Given the description of an element on the screen output the (x, y) to click on. 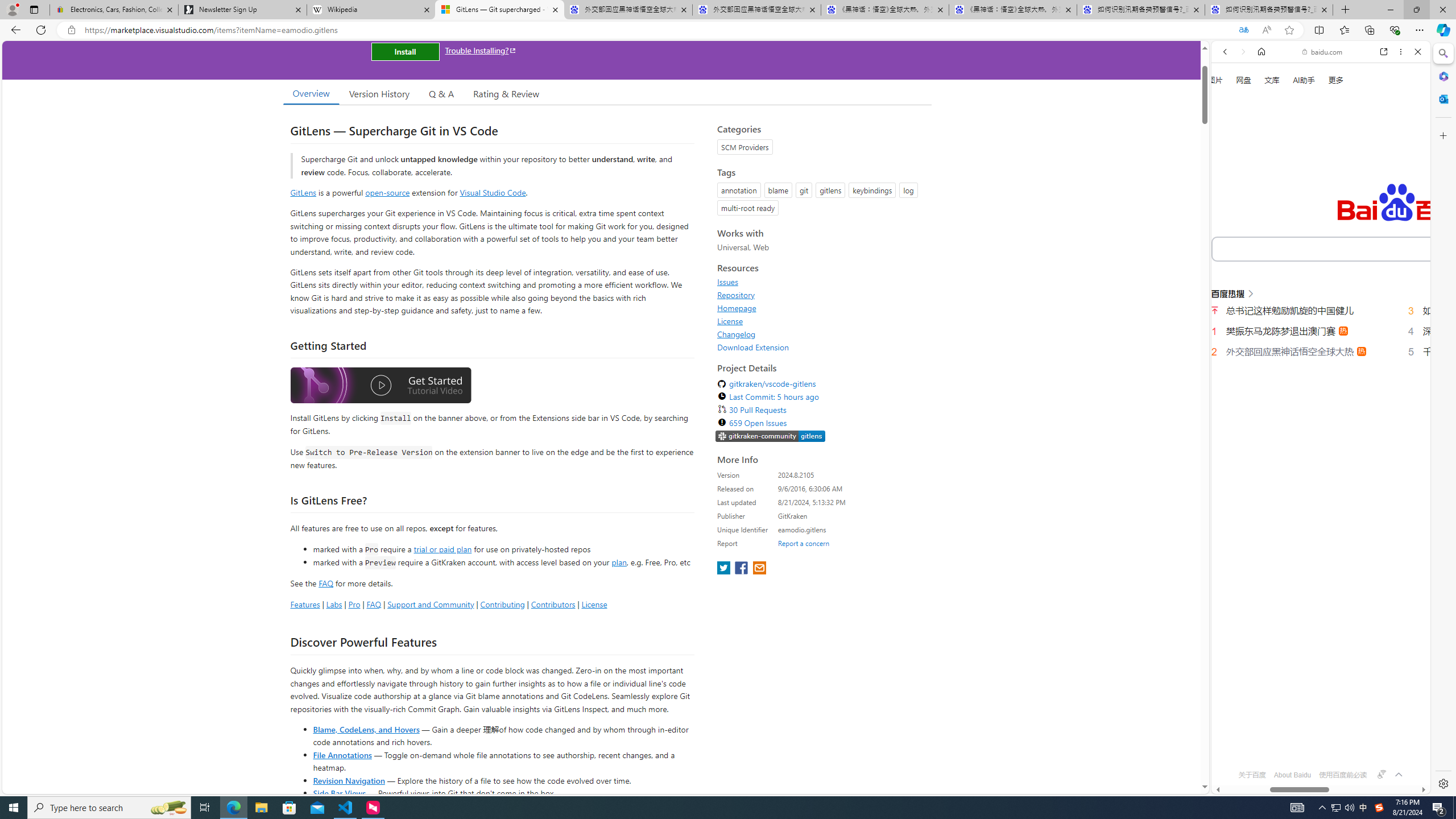
Repository (735, 294)
Download Extension (820, 346)
https://slack.gitkraken.com// (769, 436)
App bar (728, 29)
Home (1261, 51)
Search Filter, IMAGES (1262, 192)
